Given the description of an element on the screen output the (x, y) to click on. 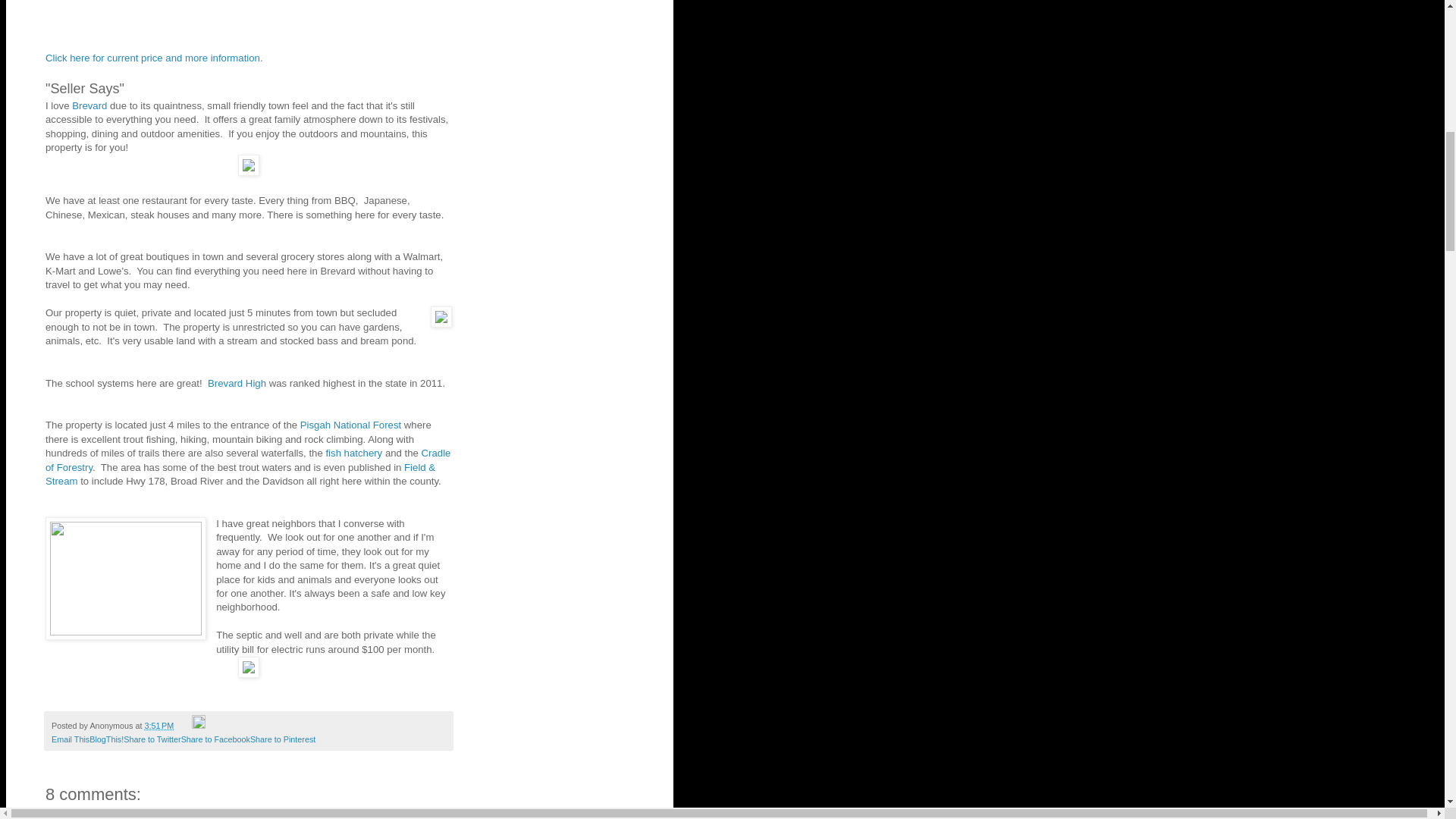
BlogThis! (105, 738)
permanent link (158, 725)
Brevard High (237, 383)
Brevard (88, 105)
Share to Facebook (215, 738)
Email Post (184, 725)
Share to Twitter (151, 738)
Click here for current price and more information. (154, 57)
Share to Facebook (215, 738)
Share to Twitter (151, 738)
Email This (69, 738)
Share to Pinterest (282, 738)
Cradle of Forestry (247, 459)
Share to Pinterest (282, 738)
